Given the description of an element on the screen output the (x, y) to click on. 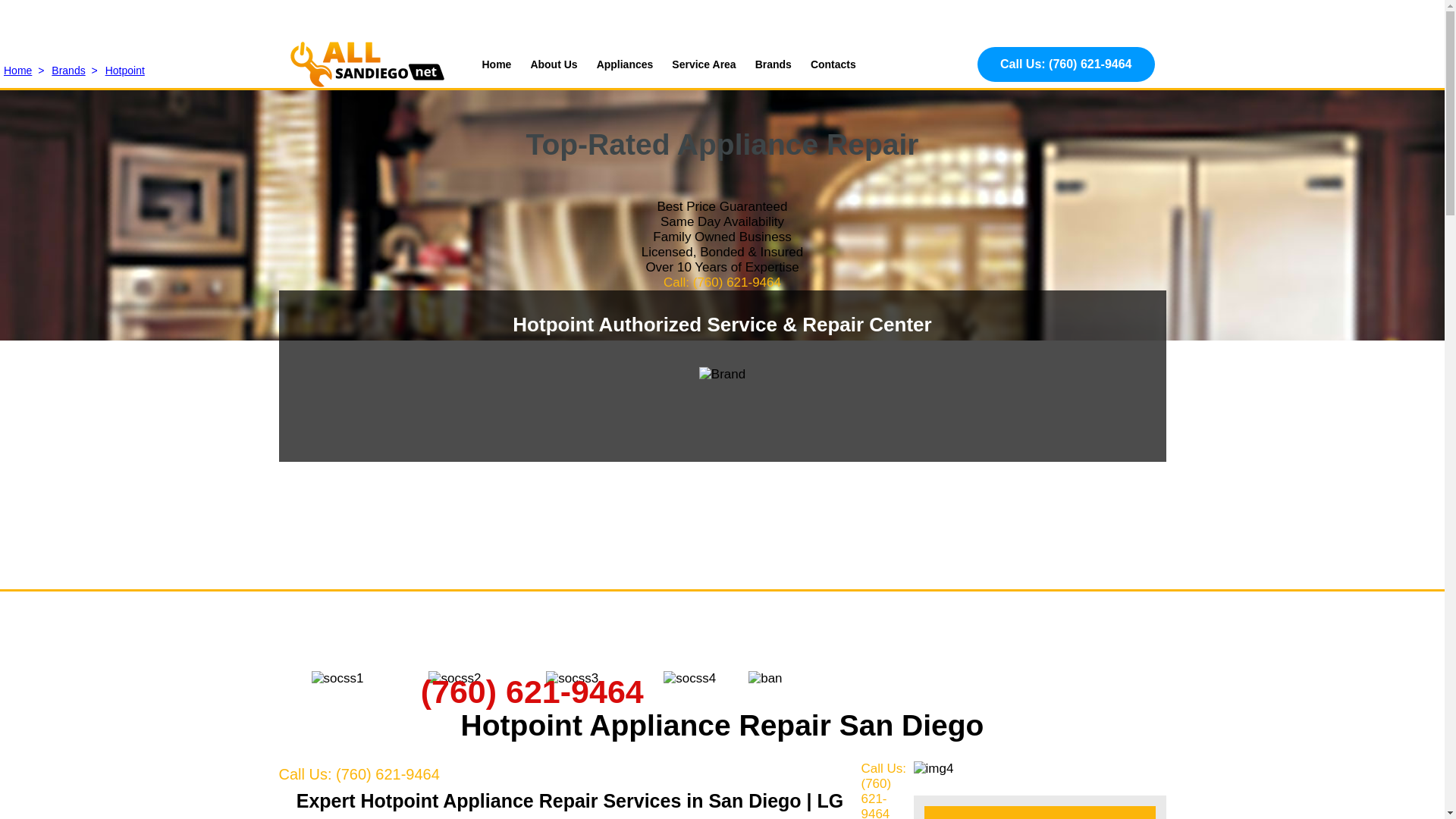
Service Area (703, 64)
Appliances (624, 64)
Brands (773, 64)
About Us (552, 64)
Home (496, 64)
